Given the description of an element on the screen output the (x, y) to click on. 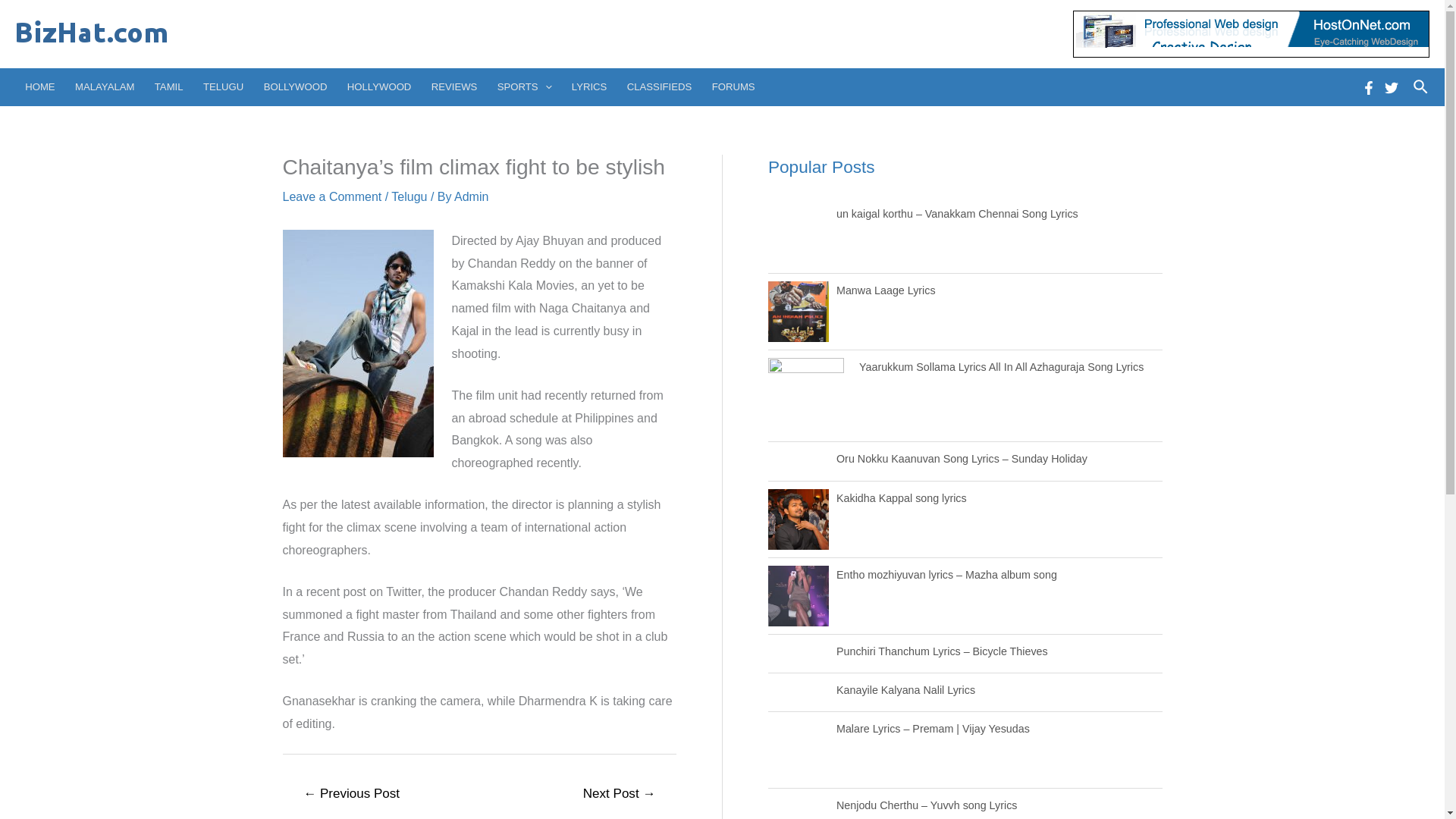
HOLLYWOOD (379, 86)
CLASSIFIEDS (659, 86)
SPORTS (524, 86)
View all posts by Admin (470, 196)
LYRICS (589, 86)
REVIEWS (454, 86)
TAMIL (168, 86)
BOLLYWOOD (294, 86)
HOME (39, 86)
FORUMS (732, 86)
TELUGU (223, 86)
MALAYALAM (104, 86)
